Given the description of an element on the screen output the (x, y) to click on. 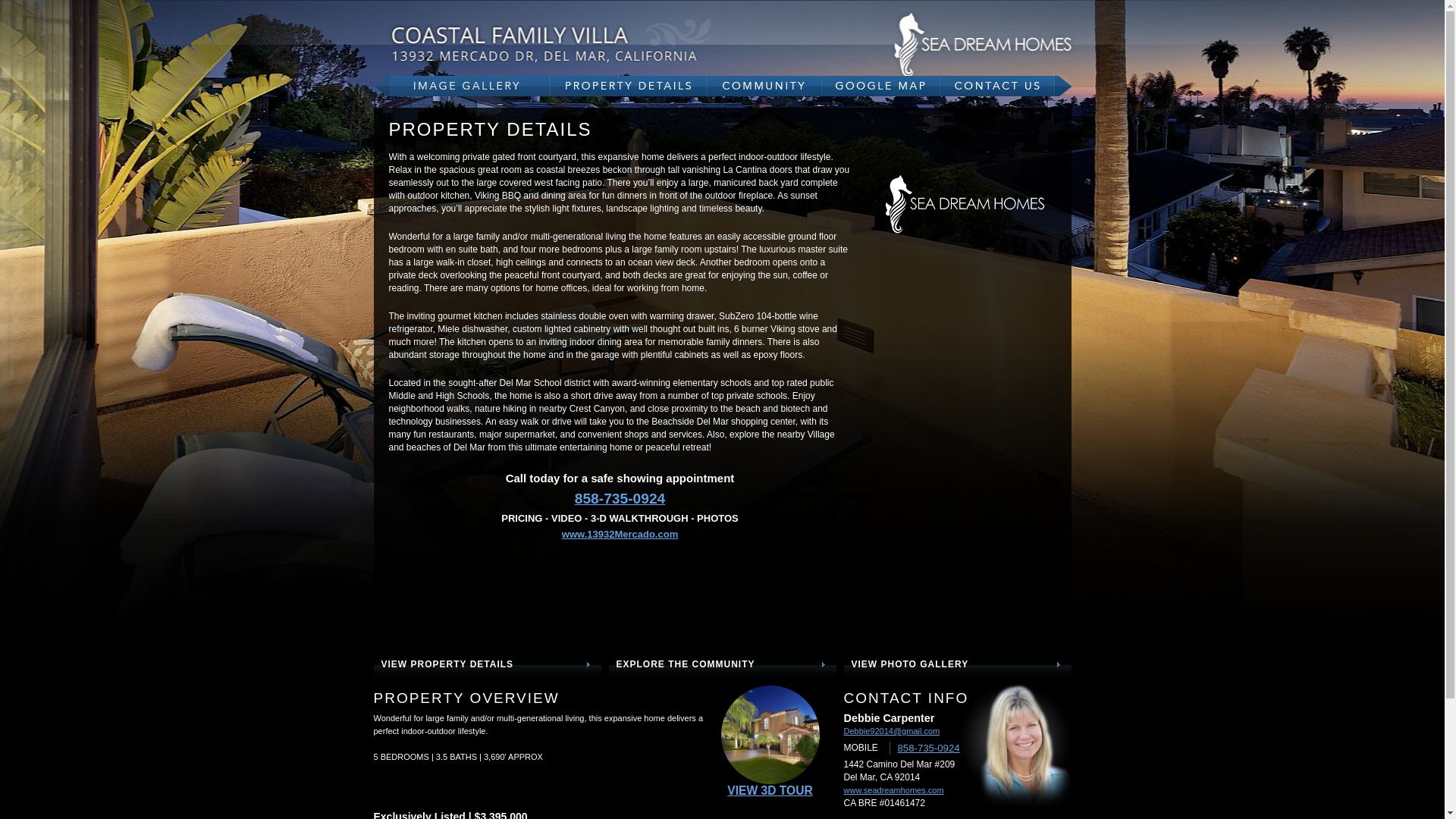
VIEW PHOTO GALLERY Element type: text (954, 664)
13932 Mercado Dr, Del Mar, CA 92014 Element type: text (577, 43)
contact us Element type: text (1005, 85)
VIEW PROPERTY DETAILS Element type: text (484, 664)
gallery Element type: text (461, 85)
property details Element type: text (628, 85)
www.13932Mercado.com Element type: text (619, 533)
www.seadreamhomes.com Element type: text (893, 790)
VIEW 3D TOUR Element type: text (769, 790)
858-735-0924 Element type: text (619, 498)
858-735-0924 Element type: text (928, 747)
EXPLORE THE COMMUNITY Element type: text (719, 664)
google map Element type: text (880, 85)
Debbie92014@gmail.com Element type: text (891, 730)
community Element type: text (764, 85)
